Given the description of an element on the screen output the (x, y) to click on. 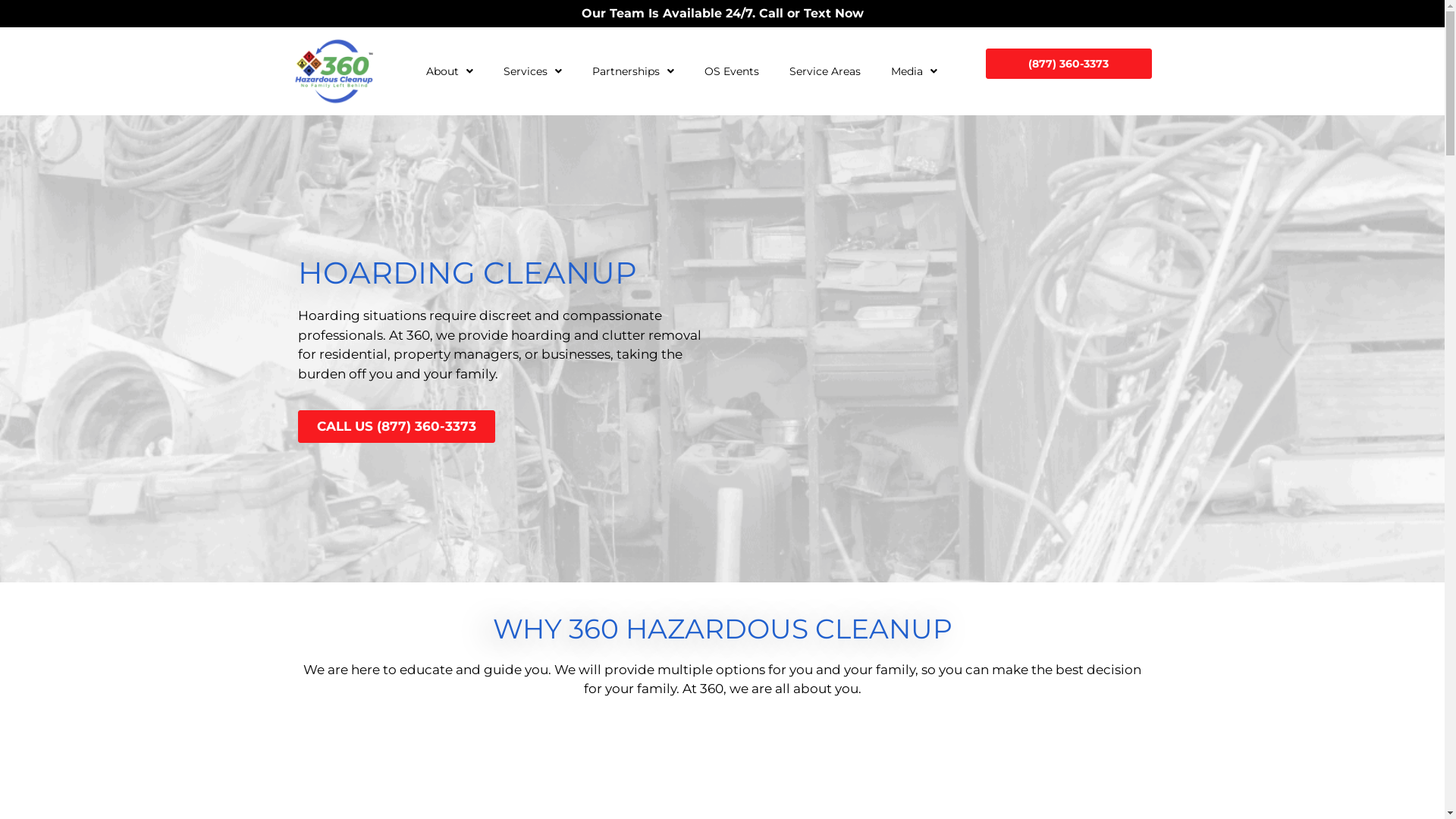
Media Element type: text (913, 70)
Partnerships Element type: text (633, 70)
Services Element type: text (532, 70)
Service Areas Element type: text (824, 70)
(877) 360-3373 Element type: text (1068, 63)
CALL US (877) 360-3373 Element type: text (395, 426)
OS Events Element type: text (731, 70)
About Element type: text (449, 70)
